Given the description of an element on the screen output the (x, y) to click on. 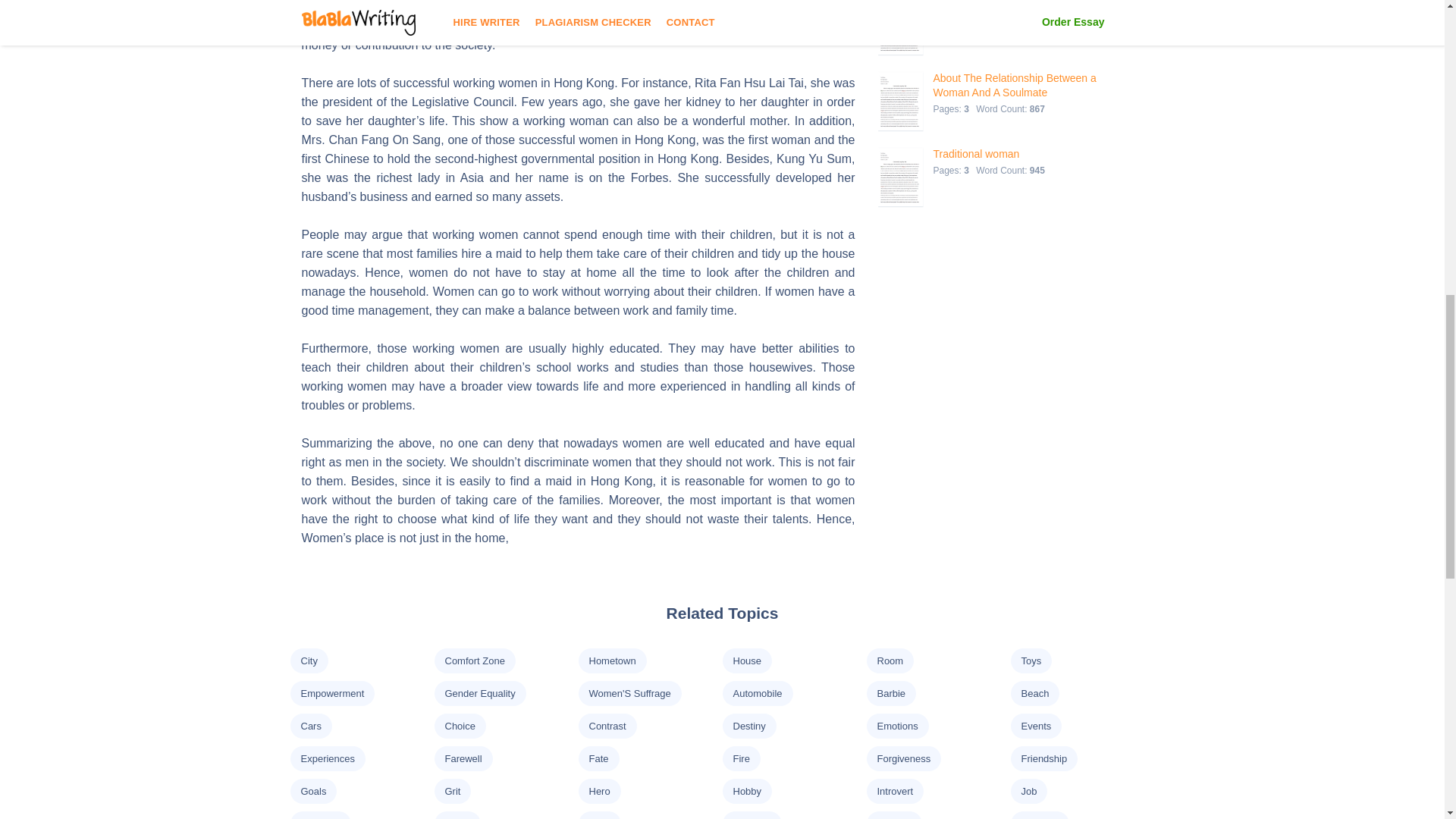
Gender Equality (479, 693)
Hometown (611, 660)
Traditional woman (990, 154)
City (308, 660)
Comfort Zone (473, 660)
Empowerment (331, 693)
About The Relationship Between a Woman And A Soulmate (1025, 85)
Toys (1030, 660)
Room (889, 660)
